Given the description of an element on the screen output the (x, y) to click on. 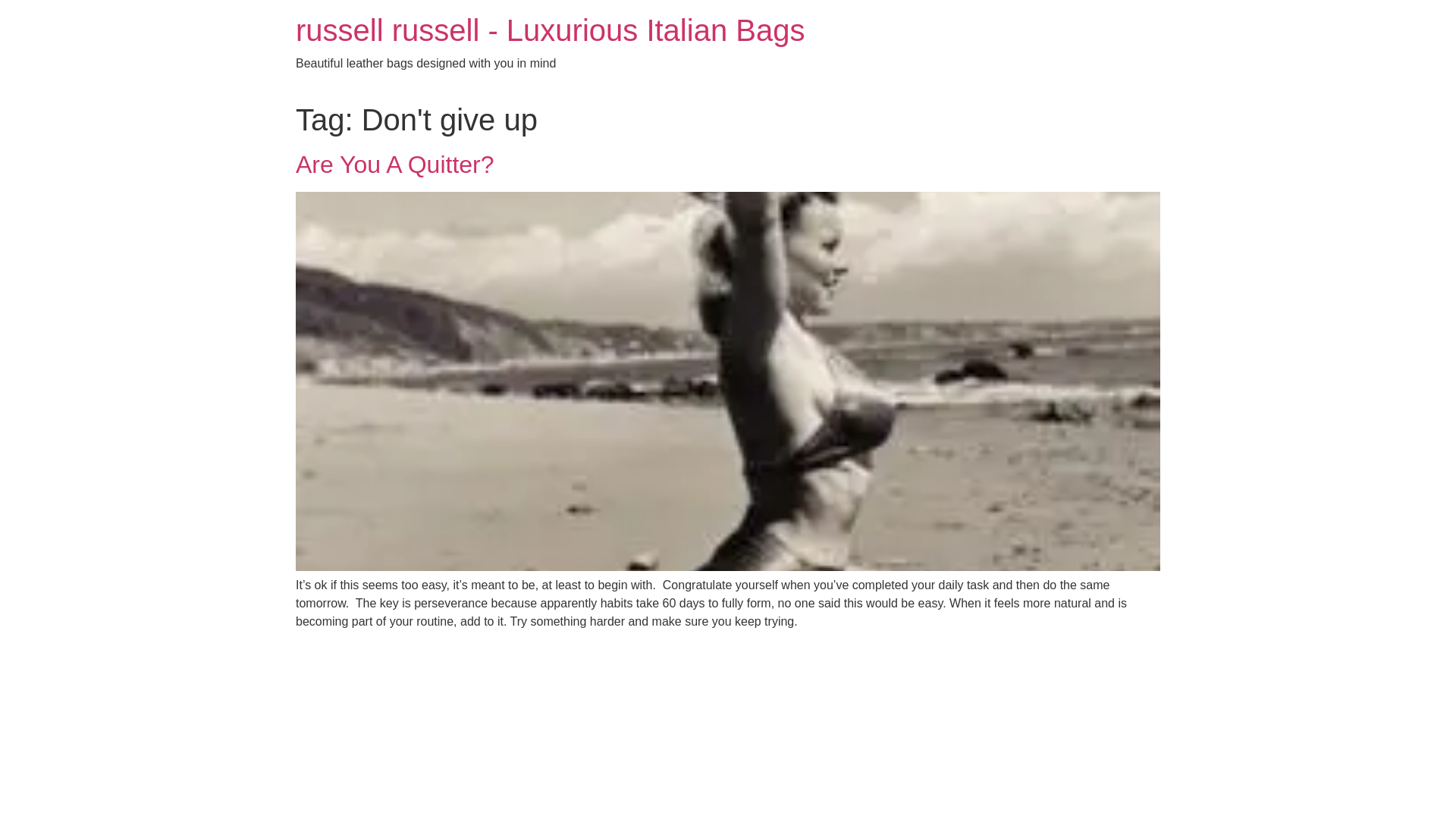
Are You A Quitter? (395, 164)
russell russell - Luxurious Italian Bags (550, 29)
Home (550, 29)
